Given the description of an element on the screen output the (x, y) to click on. 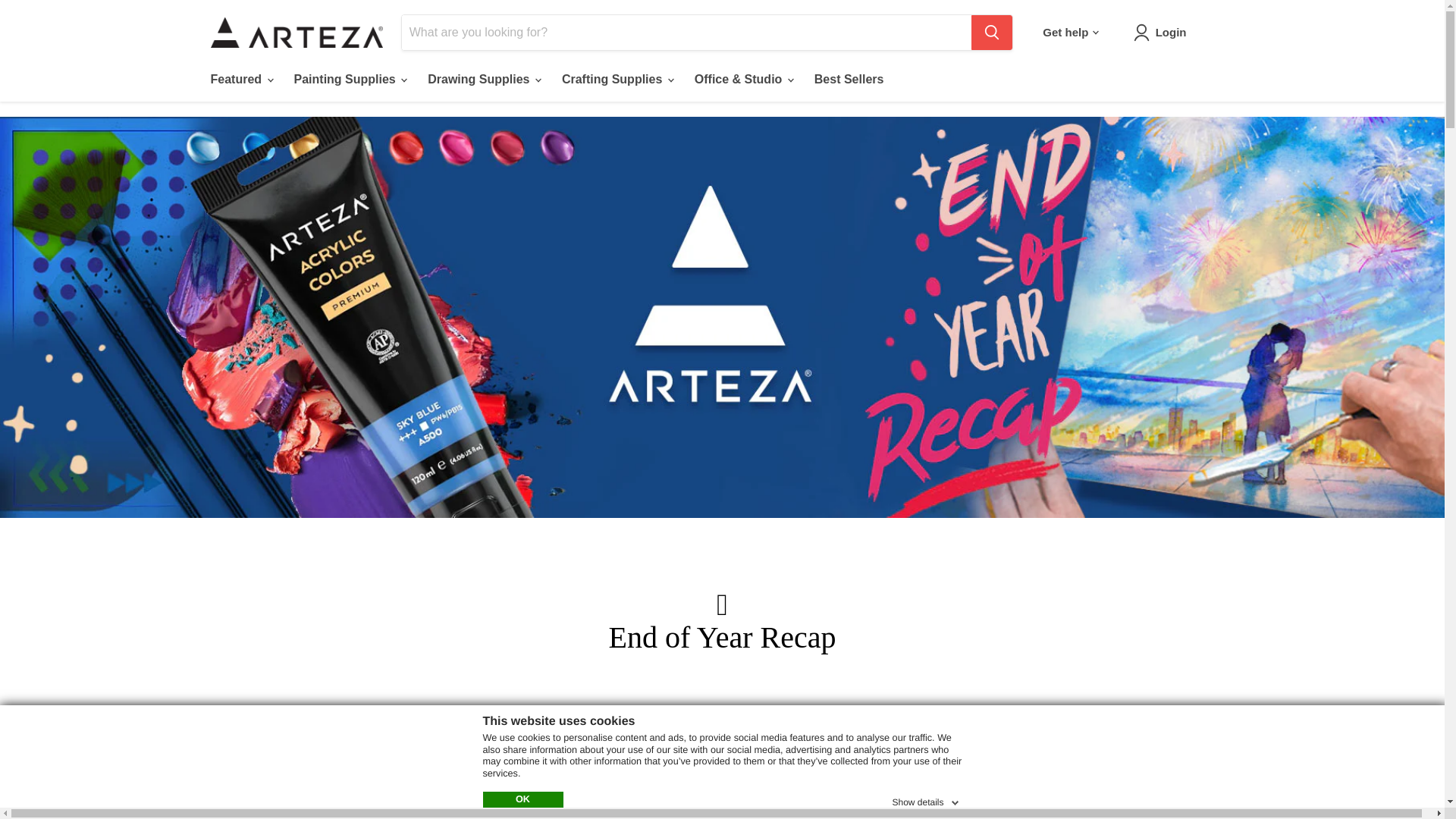
Show details (925, 799)
OK (521, 799)
